Given the description of an element on the screen output the (x, y) to click on. 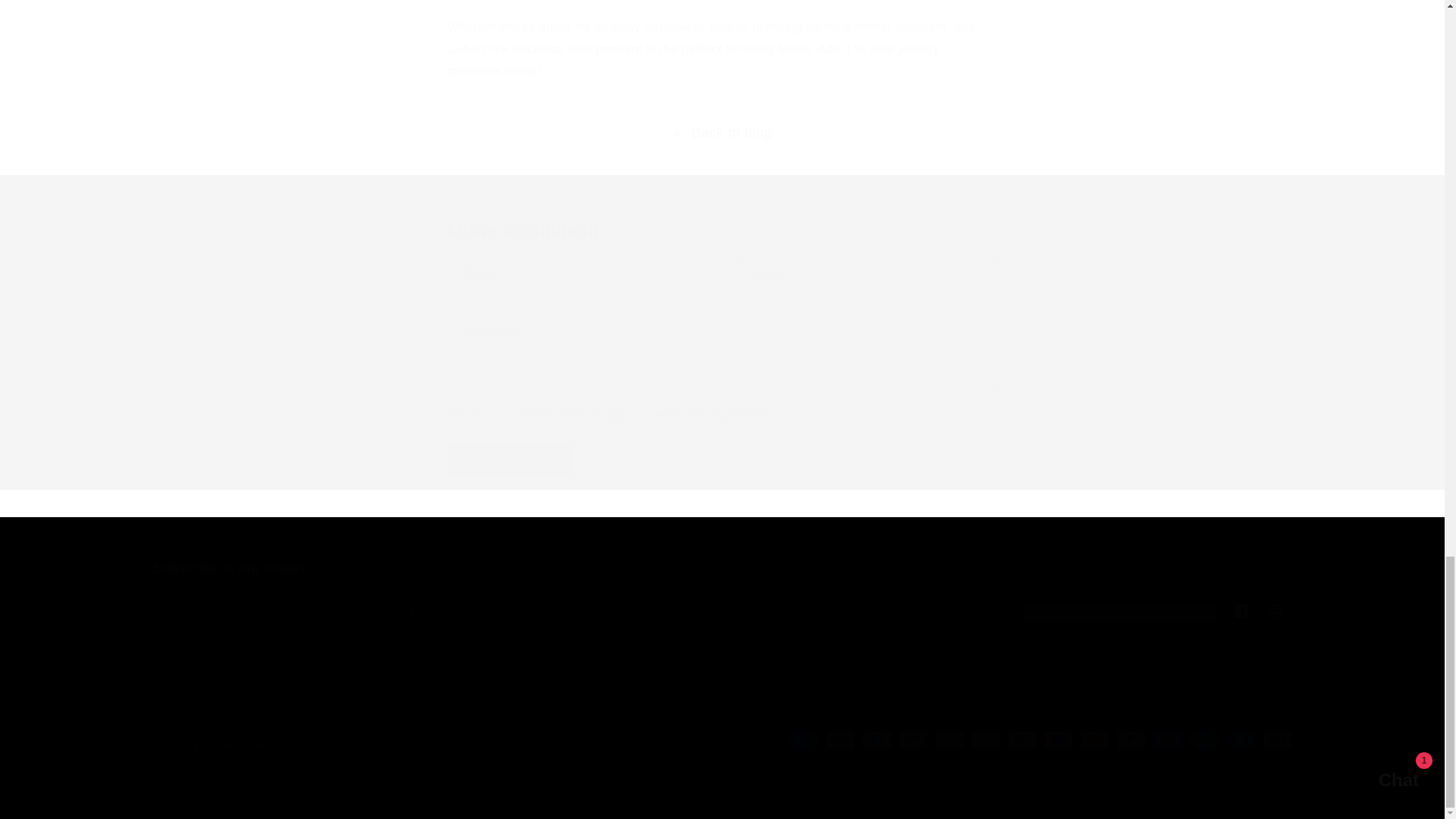
Post comment (510, 459)
